Given the description of an element on the screen output the (x, y) to click on. 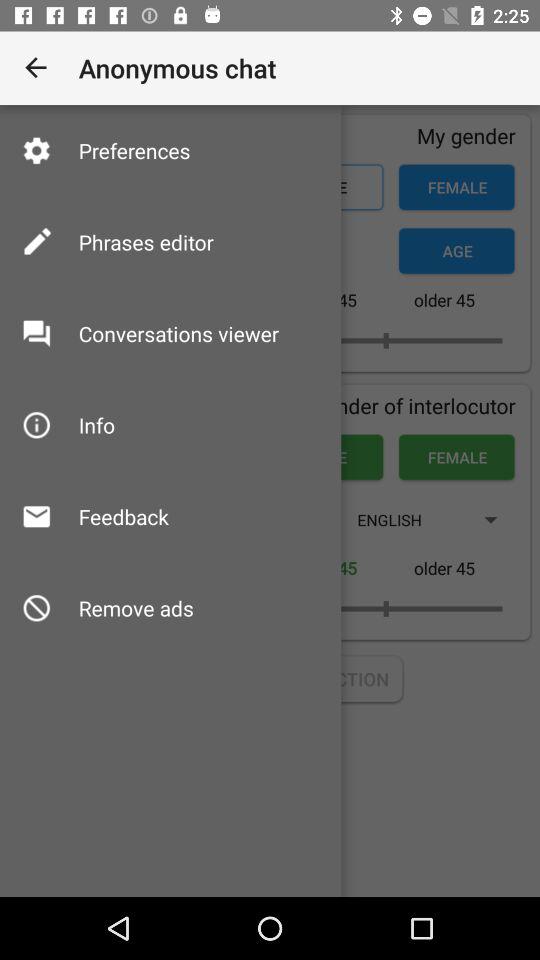
turn off icon next to english item (123, 516)
